Given the description of an element on the screen output the (x, y) to click on. 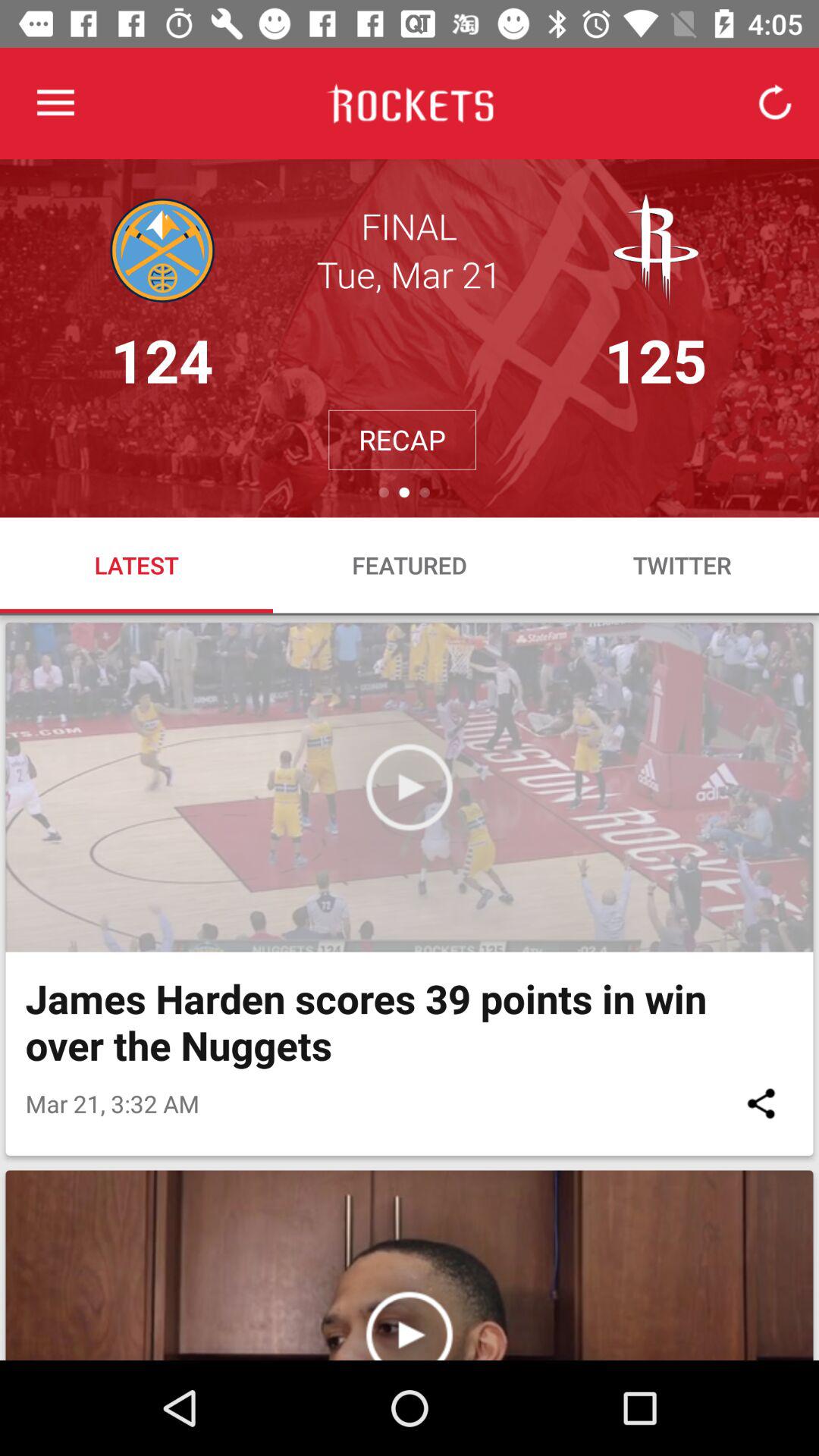
select icon below james harden scores item (761, 1103)
